Given the description of an element on the screen output the (x, y) to click on. 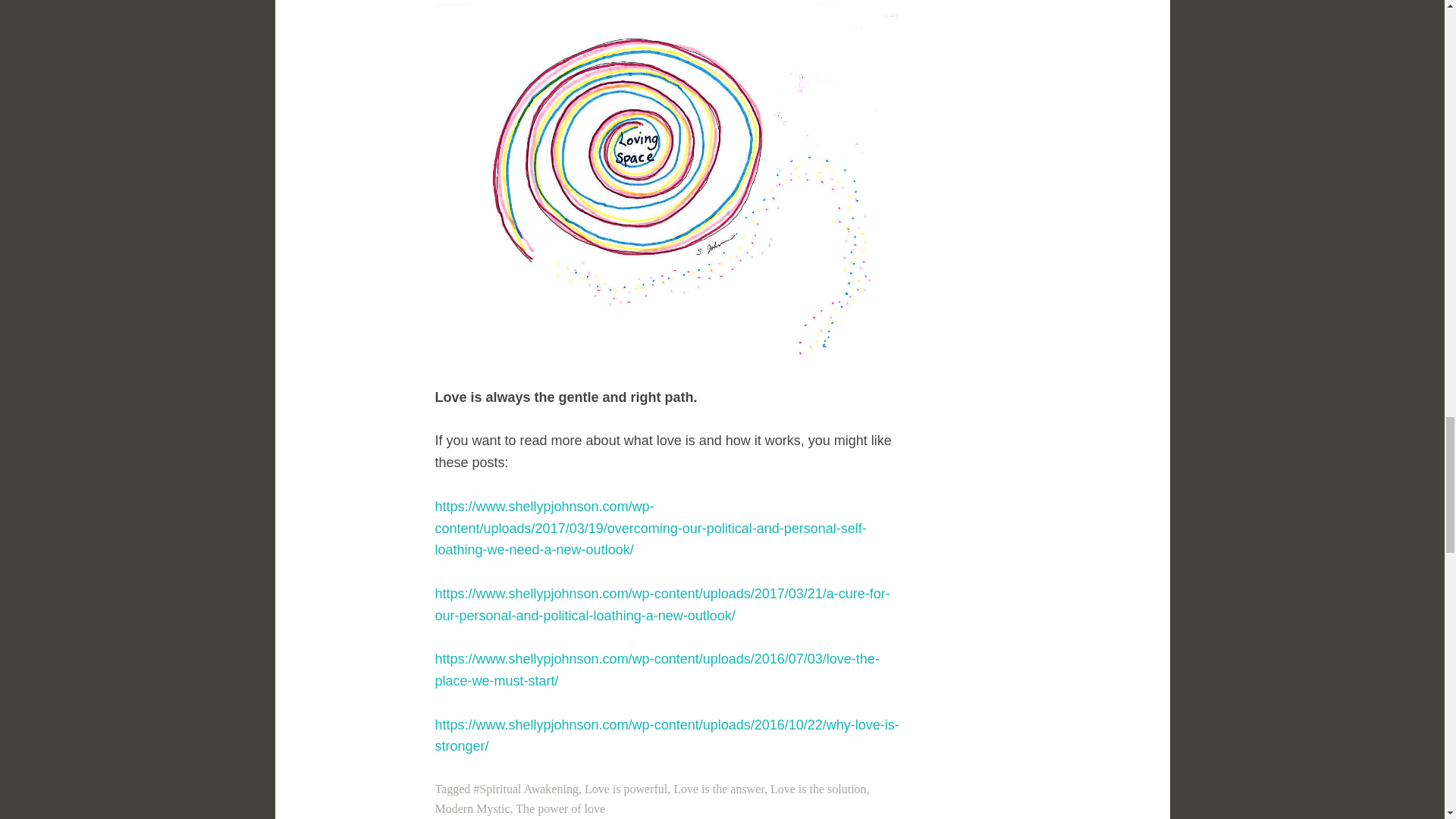
Love is the solution (818, 788)
Love is powerful (625, 788)
Modern Mystic (473, 808)
Love is the answer (718, 788)
The power of love (560, 808)
